Given the description of an element on the screen output the (x, y) to click on. 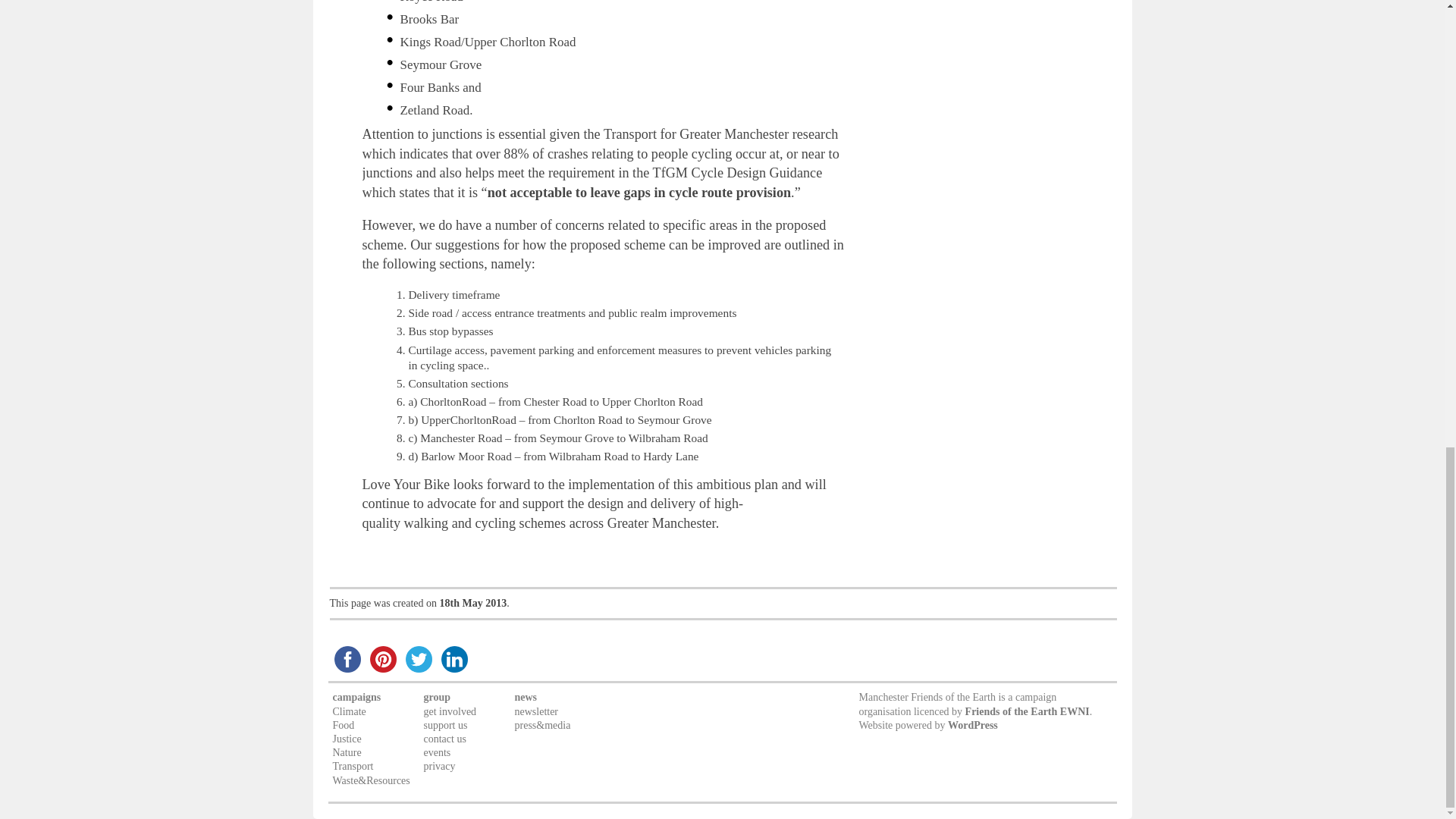
WordPress (972, 725)
Nature (346, 752)
linkedin (453, 659)
twitter (417, 659)
Justice (346, 738)
Transport (351, 766)
Climate (348, 711)
facebook (347, 659)
events (436, 752)
pinterest (383, 659)
Friends of the Earth EWNI (1027, 711)
Food (342, 725)
contact us (444, 738)
privacy (438, 766)
get involved (449, 711)
